Given the description of an element on the screen output the (x, y) to click on. 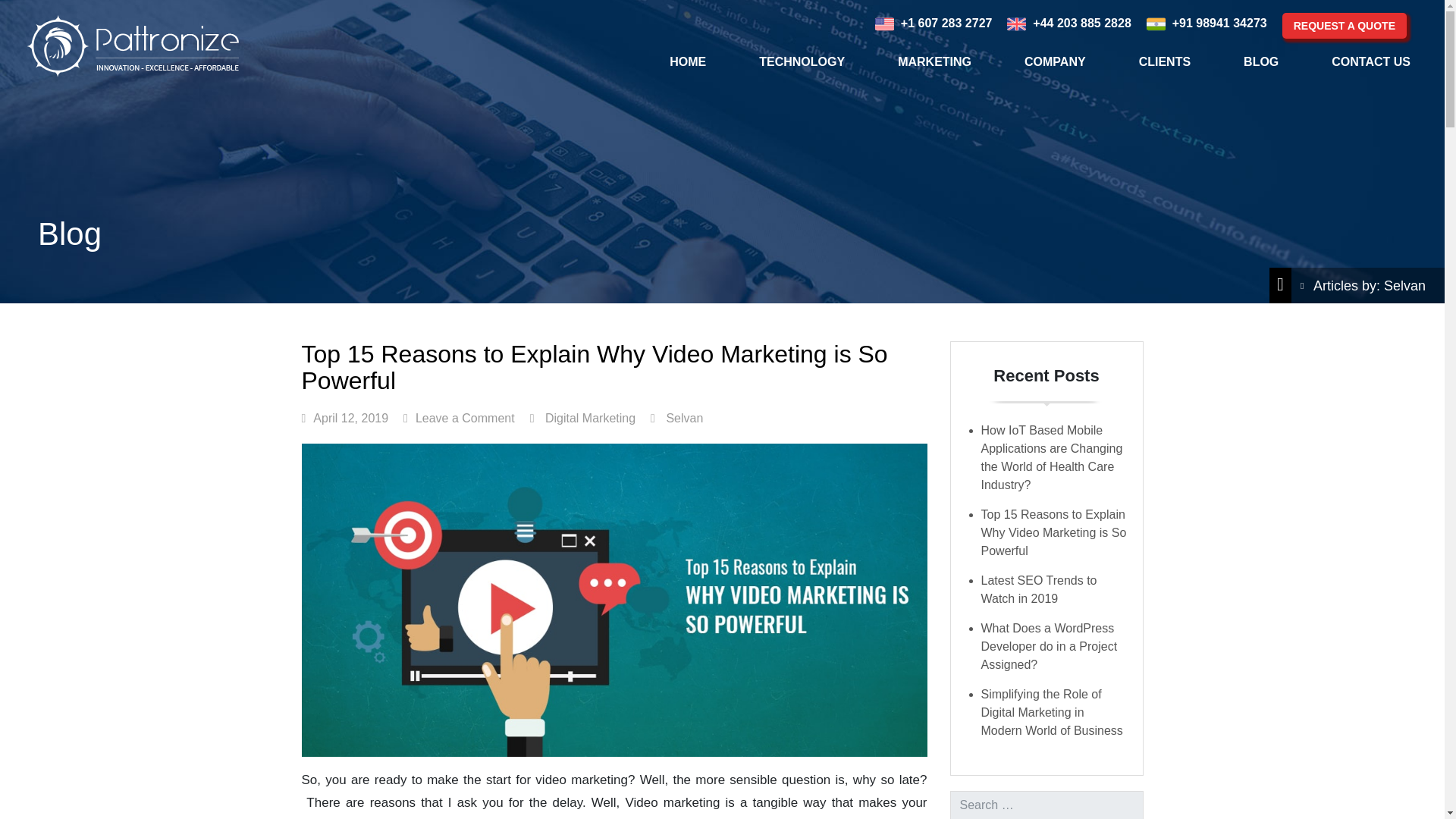
COMPANY (1054, 61)
REQUEST A QUOTE (1344, 25)
Pattronize Infotech (132, 45)
TECHNOLOGY (801, 61)
MARKETING (933, 61)
Pattronize InfoTech (132, 45)
HOME (687, 61)
